Given the description of an element on the screen output the (x, y) to click on. 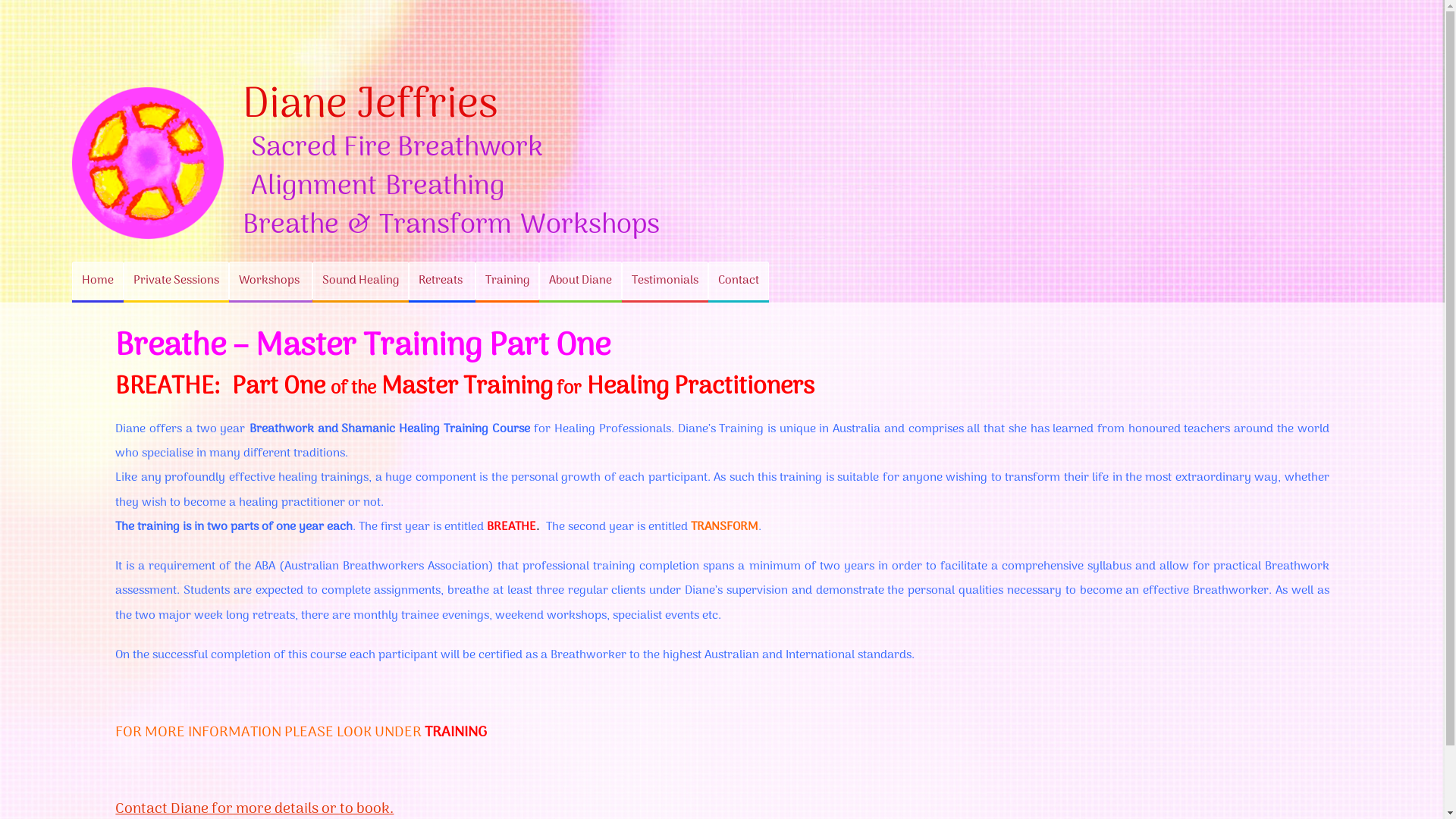
Contact Element type: text (738, 280)
Testimonials Element type: text (664, 280)
Home Element type: text (97, 280)
Retreats Element type: text (441, 280)
Private Sessions Element type: text (176, 280)
Sound Healing Element type: text (360, 280)
Workshops Element type: text (270, 280)
About Diane Element type: text (580, 280)
Training Element type: text (507, 280)
